Given the description of an element on the screen output the (x, y) to click on. 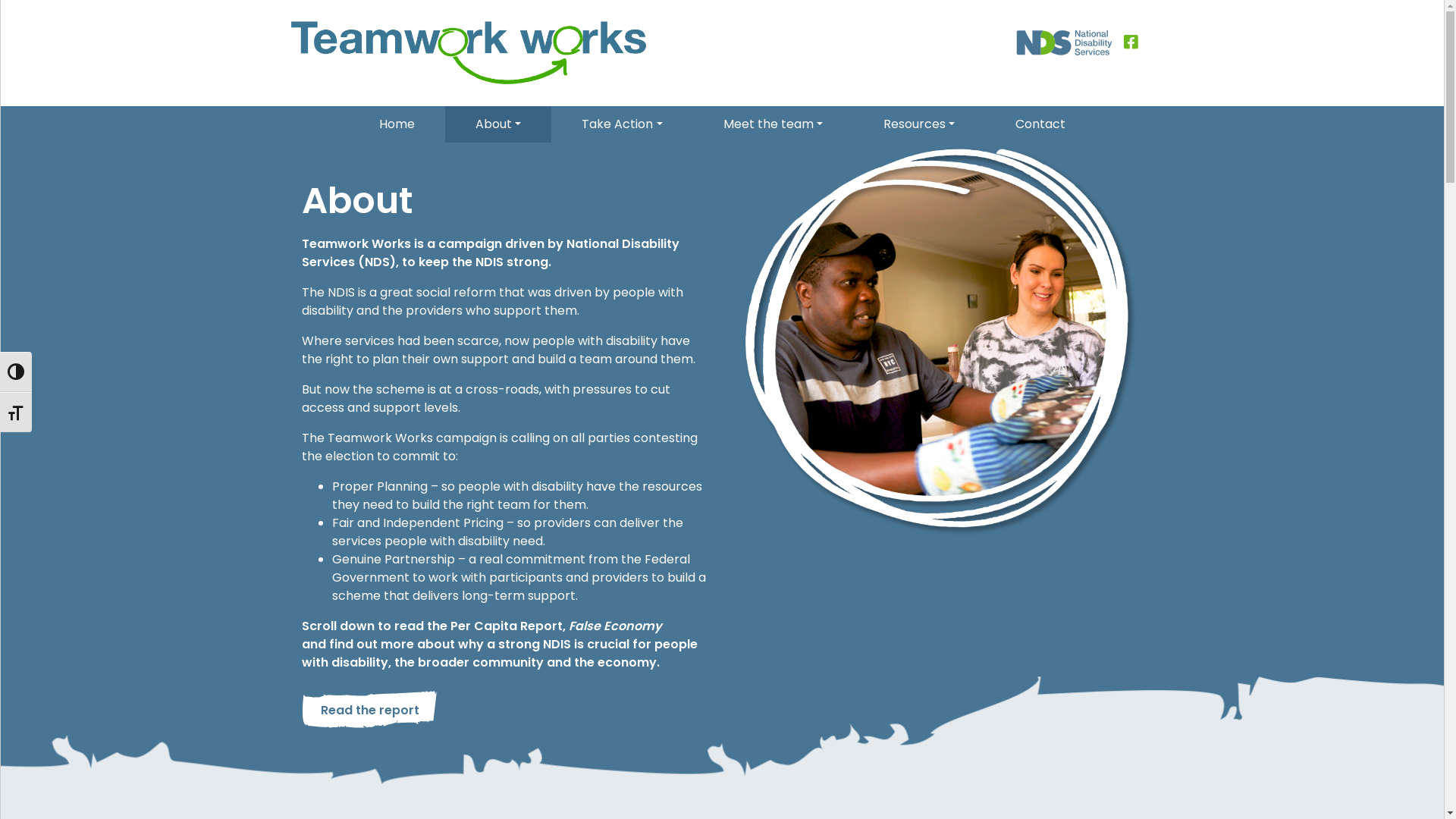
About Element type: text (498, 124)
Share on facebook Element type: hover (1130, 41)
Contact Element type: text (1040, 124)
Resources Element type: text (919, 124)
Toggle High Contrast Element type: text (15, 371)
Share on facebook Element type: text (1130, 39)
Toggle Font size Element type: text (15, 412)
Meet the team Element type: text (773, 124)
Home Element type: text (396, 124)
Take Action Element type: text (621, 124)
